Given the description of an element on the screen output the (x, y) to click on. 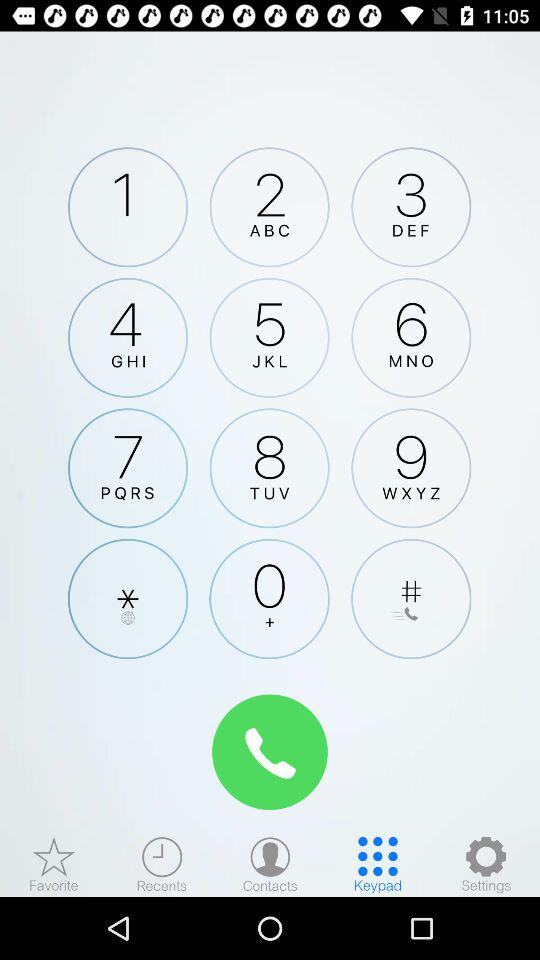
digital keyboard number (269, 337)
